Given the description of an element on the screen output the (x, y) to click on. 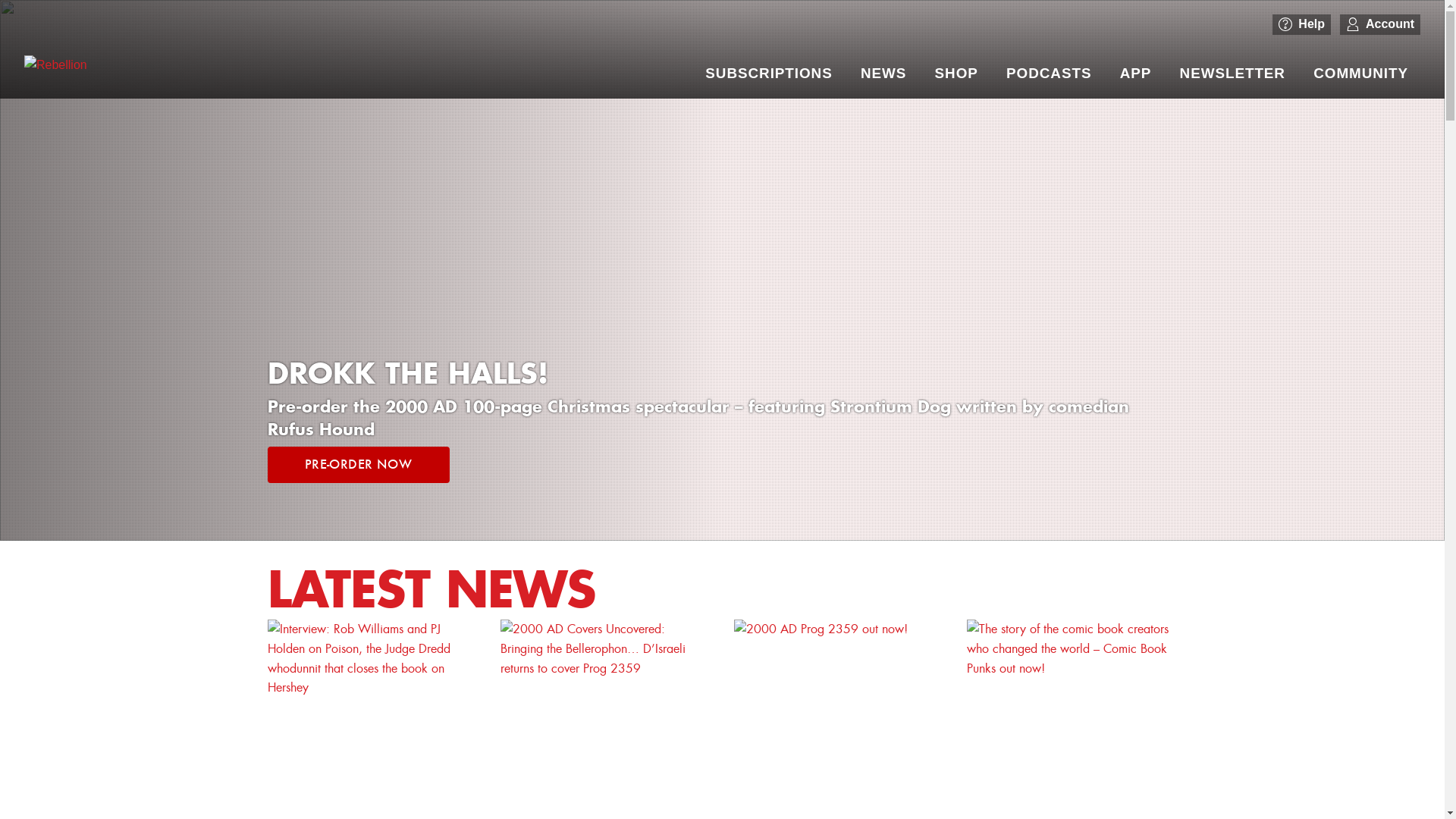
APP Element type: text (1135, 74)
NEWS Element type: text (883, 74)
NEWSLETTER Element type: text (1232, 74)
LATEST NEWS Element type: text (430, 588)
SHOP Element type: text (956, 74)
COMMUNITY Element type: text (1360, 74)
SUBSCRIPTIONS Element type: text (768, 74)
Help Element type: text (1301, 24)
PODCASTS Element type: text (1048, 74)
PRE-ORDER NOW Element type: text (357, 464)
Account Element type: text (1379, 24)
